Given the description of an element on the screen output the (x, y) to click on. 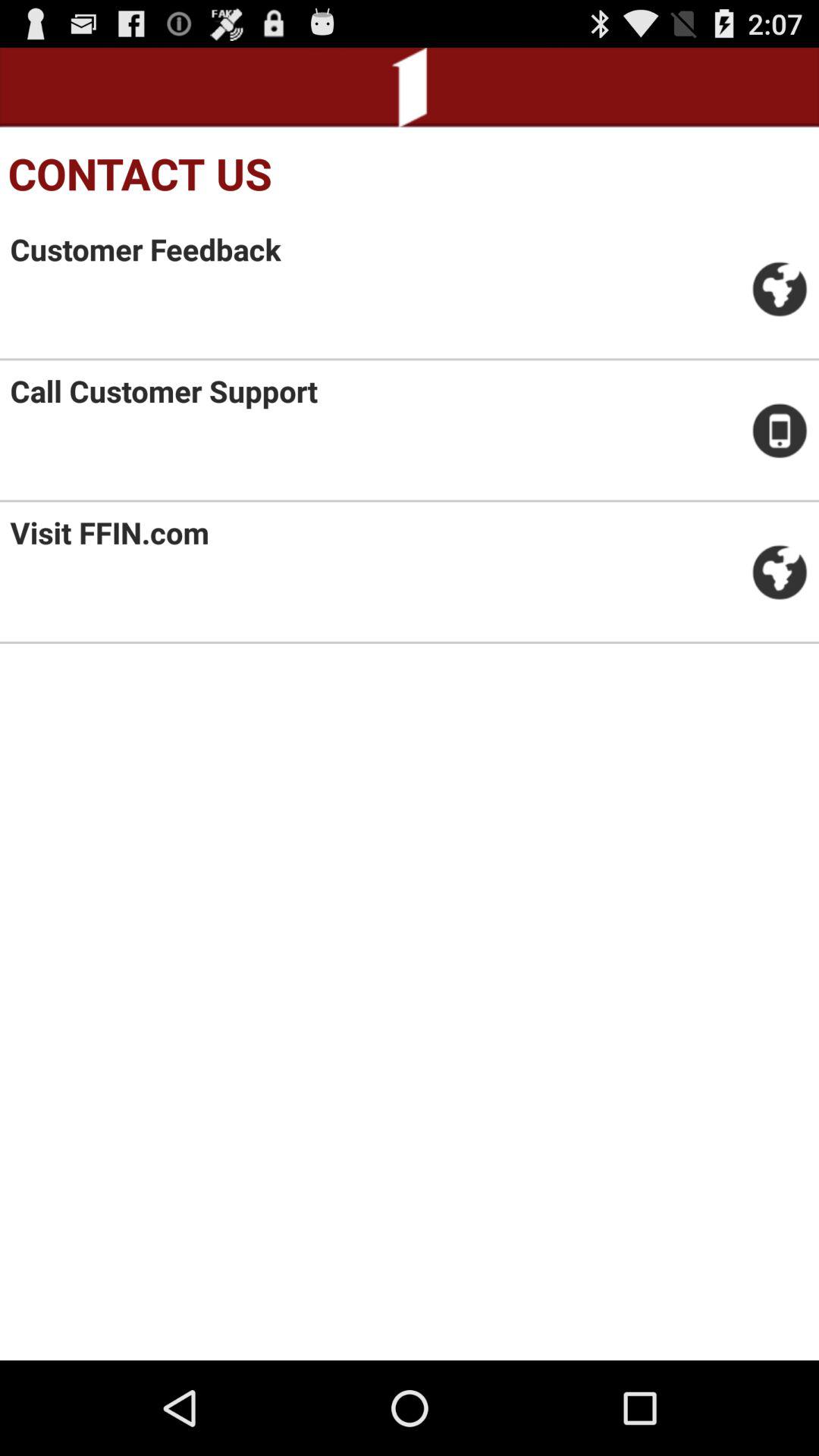
swipe to customer feedback (145, 249)
